Given the description of an element on the screen output the (x, y) to click on. 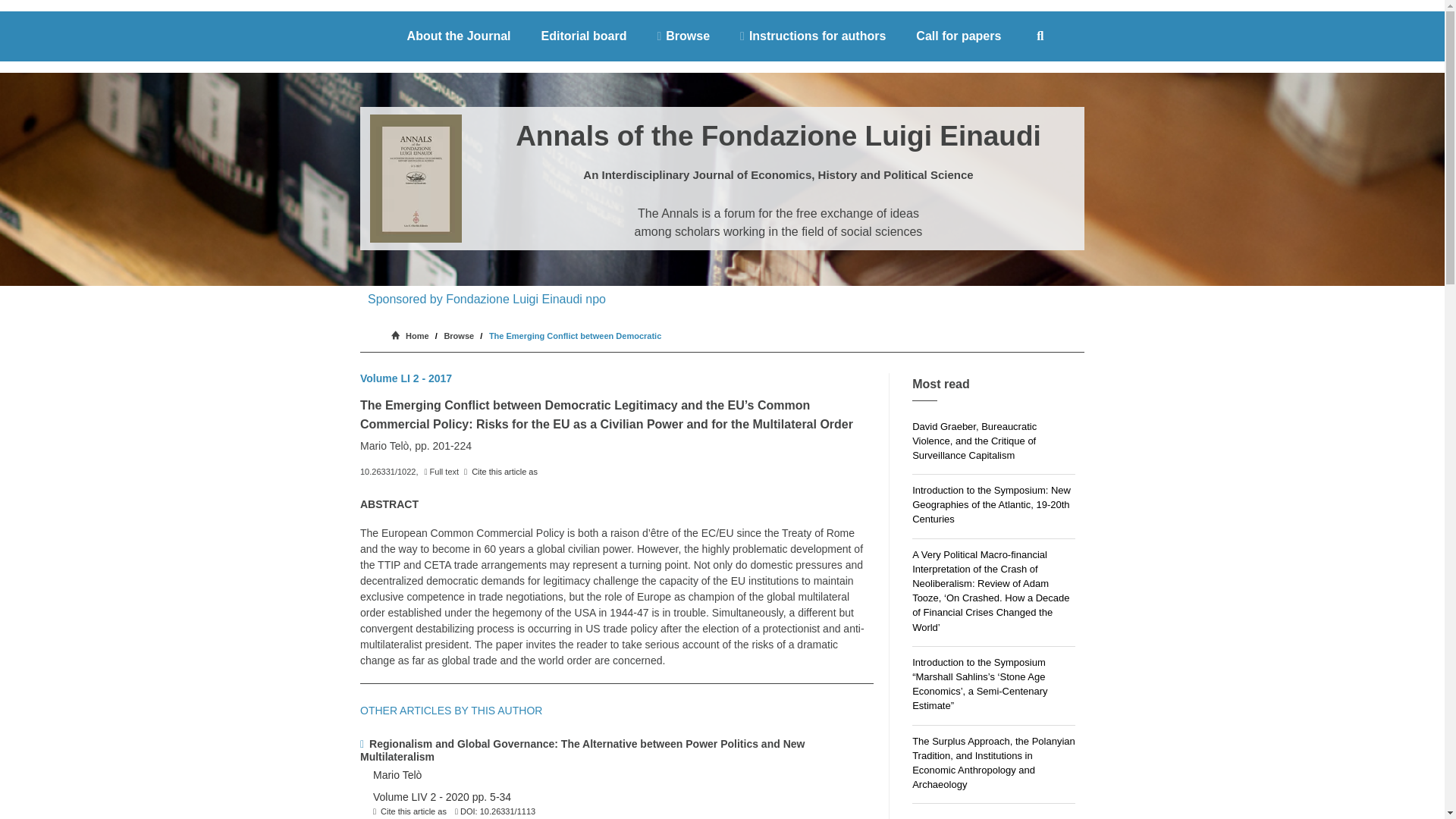
Browse (683, 36)
About the Journal (458, 36)
Full text (440, 470)
Browse (459, 335)
Call for papers (958, 36)
The Emerging Conflict between Democratic (574, 335)
Editorial board (583, 36)
Home (411, 335)
Instructions for authors (813, 36)
Sponsored by Fondazione Luigi Einaudi npo (486, 298)
Home (411, 335)
Browse (459, 335)
